Given the description of an element on the screen output the (x, y) to click on. 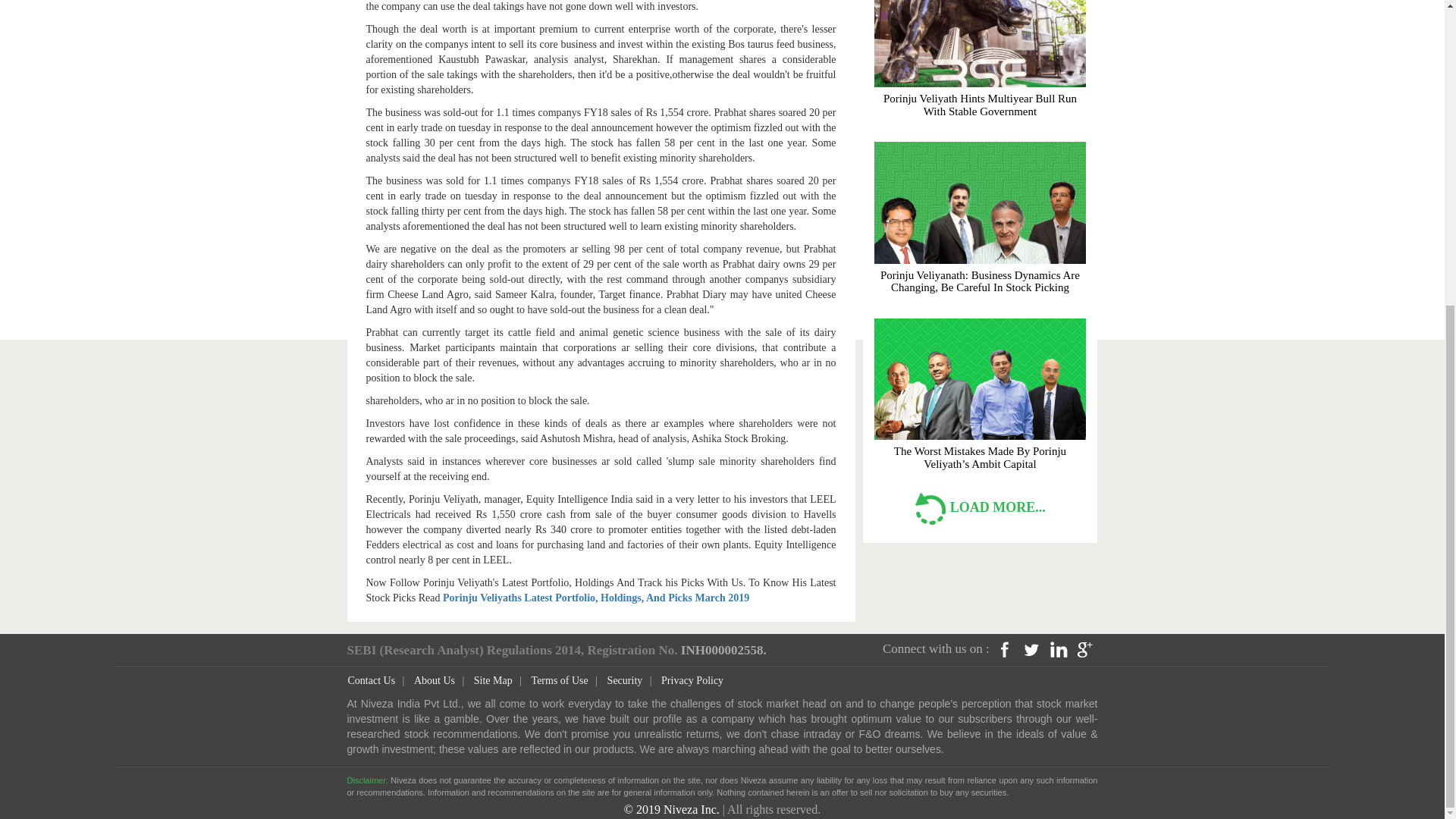
Twitter (1031, 649)
Linkedin (1058, 648)
Google Plus (1085, 648)
LOAD MORE... (979, 507)
Facebook (1004, 648)
